Given the description of an element on the screen output the (x, y) to click on. 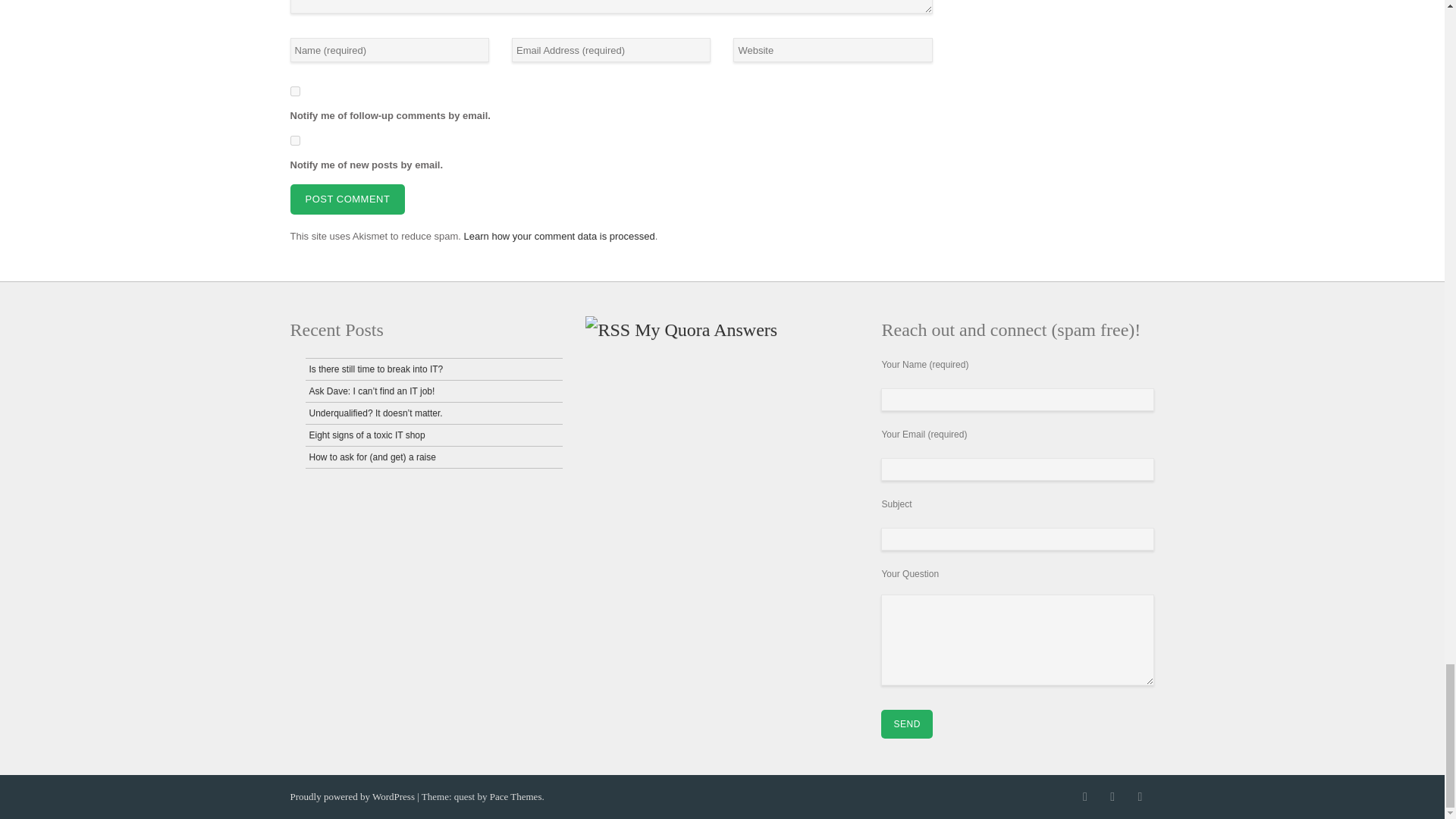
Post Comment (346, 199)
Send (905, 724)
subscribe (294, 140)
subscribe (294, 91)
Learn how your comment data is processed (559, 235)
Post Comment (346, 199)
